Given the description of an element on the screen output the (x, y) to click on. 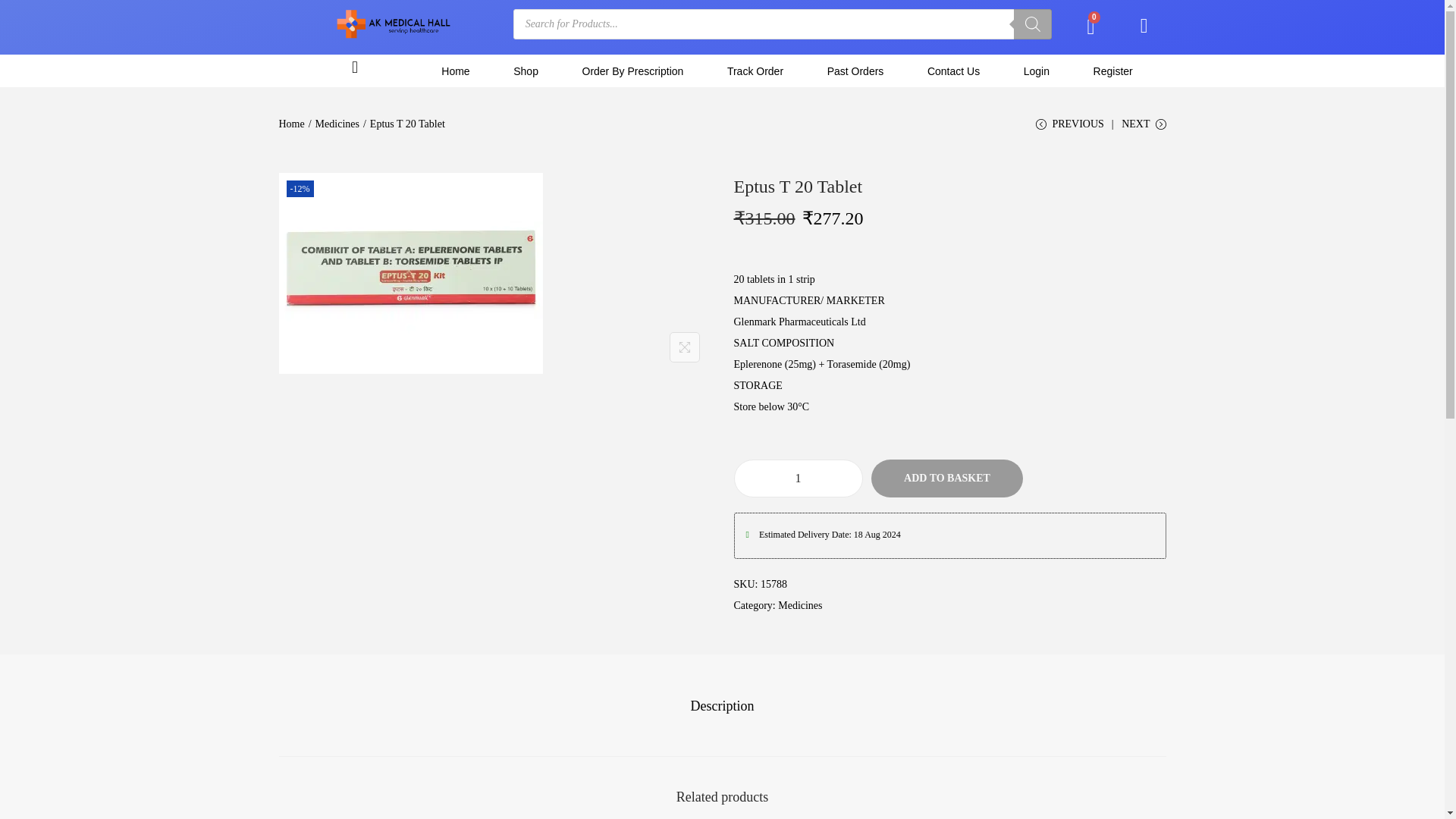
Home (456, 69)
Track Order (754, 69)
Shop (525, 69)
Contact Us (953, 69)
Past Orders (855, 69)
Order By Prescription (632, 69)
Register (1112, 69)
Login (1036, 69)
1 (797, 477)
0 (1090, 26)
